Given the description of an element on the screen output the (x, y) to click on. 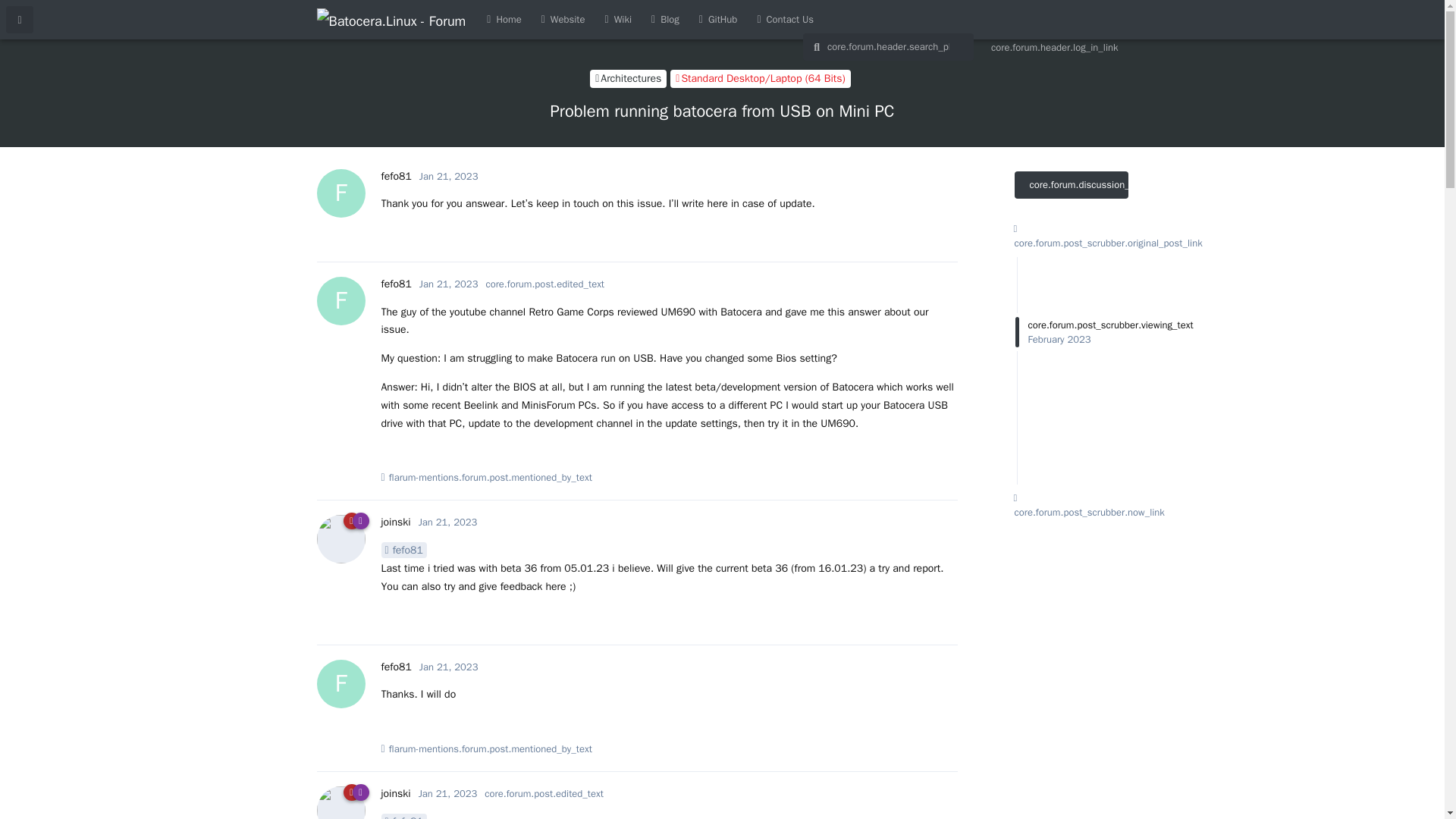
Saturday, January 21, 2023 5:23 AM (448, 793)
Website (563, 19)
Saturday, January 21, 2023 5:02 AM (449, 666)
Home (395, 175)
Ask questions, ideas and more about an architecture problem (504, 19)
GitHub (627, 78)
Jan 21, 2023 (718, 19)
joinski (448, 521)
fefo81 (395, 793)
